Given the description of an element on the screen output the (x, y) to click on. 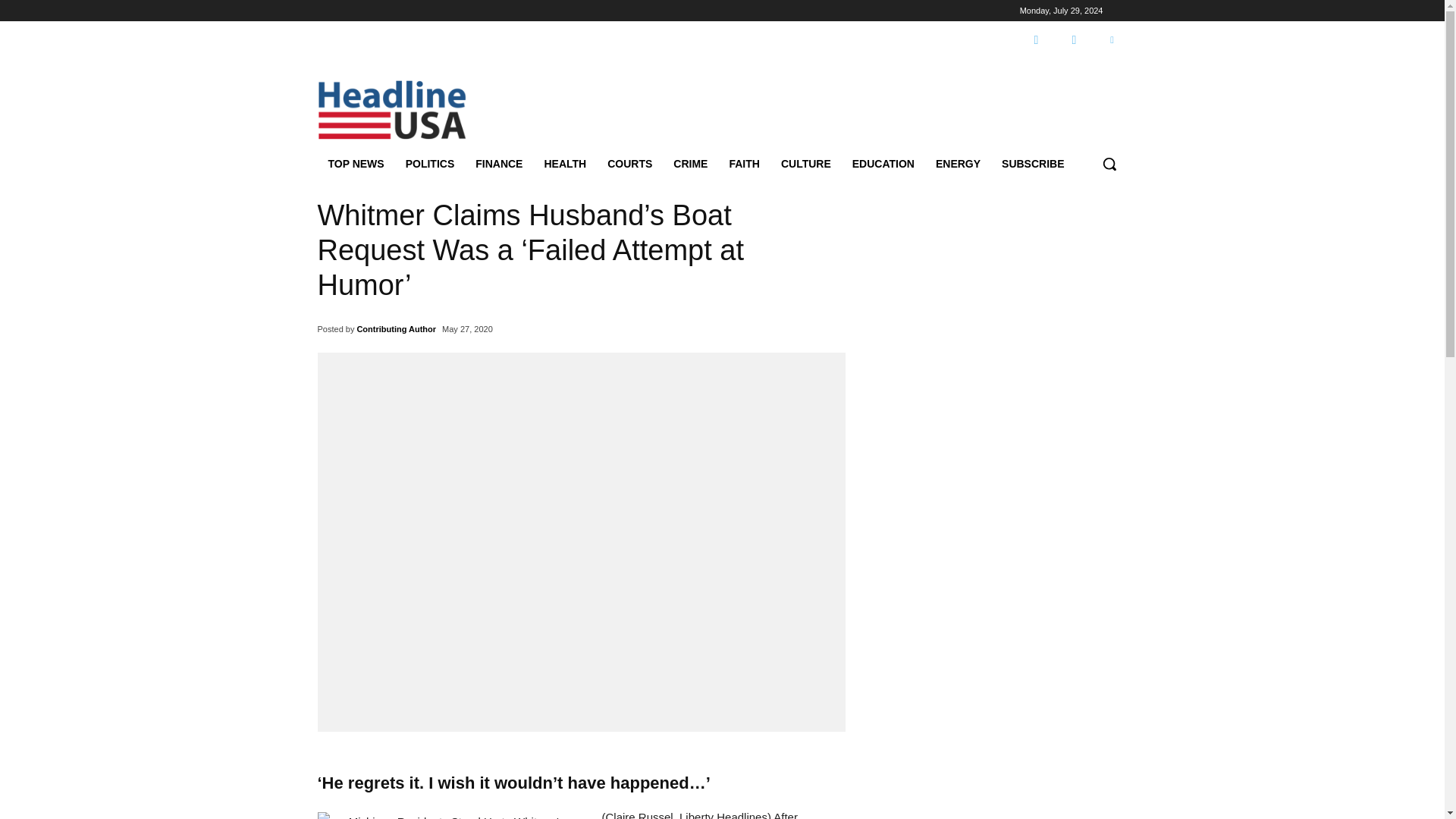
EDUCATION (882, 163)
ENERGY (957, 163)
CRIME (689, 163)
POLITICS (429, 163)
COURTS (629, 163)
Instagram (1073, 40)
CULTURE (805, 163)
FINANCE (498, 163)
Contributing Author (395, 328)
Facebook (1035, 40)
TOP NEWS (355, 163)
FAITH (743, 163)
SUBSCRIBE (1032, 163)
HEALTH (564, 163)
Twitter (1111, 40)
